Given the description of an element on the screen output the (x, y) to click on. 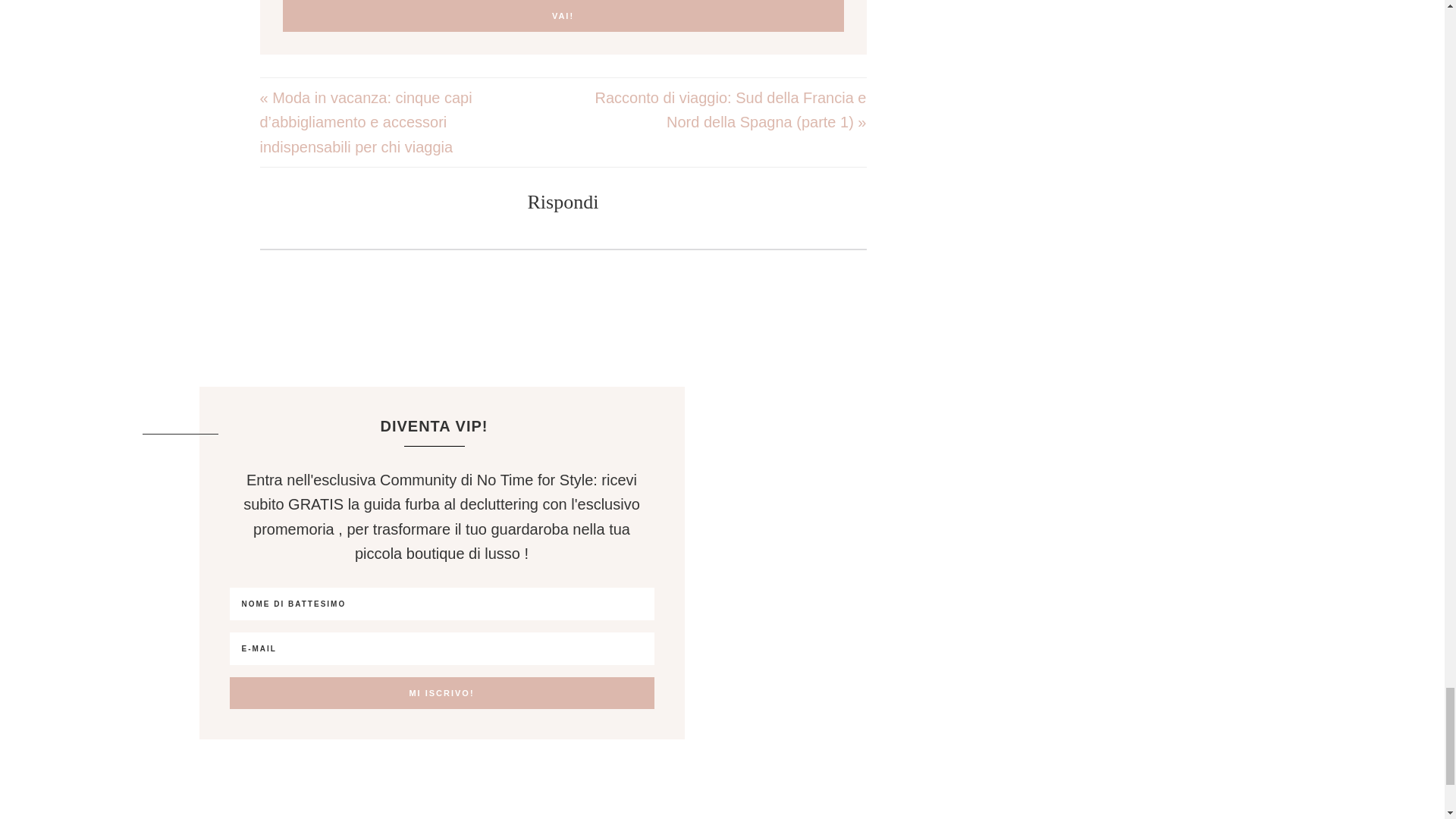
Vai! (562, 15)
Vai! (562, 15)
Mi iscrivo! (440, 693)
